Given the description of an element on the screen output the (x, y) to click on. 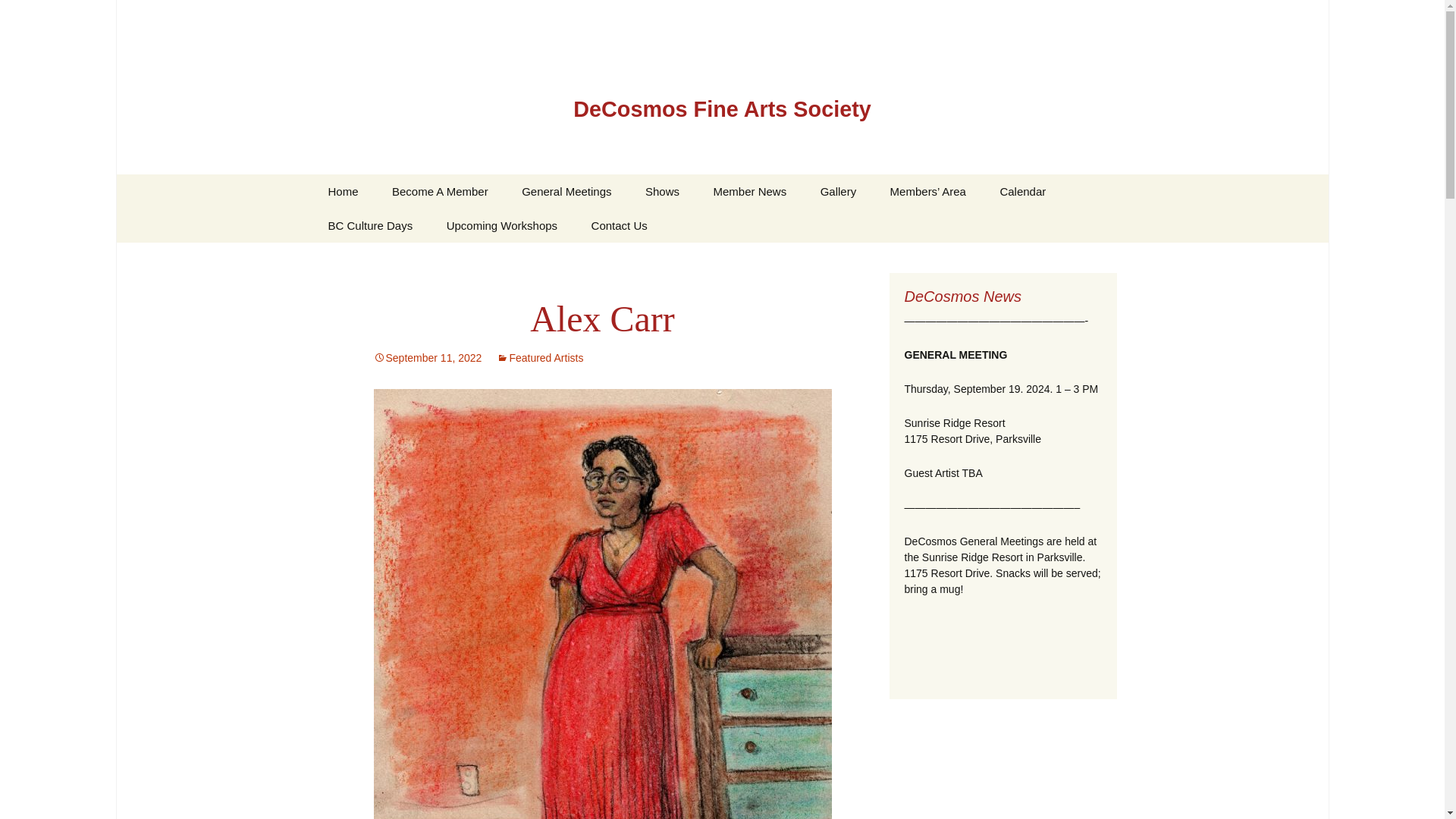
General Meetings (566, 191)
Featured Artists (772, 225)
Contact Us (619, 225)
Upcoming Workshops (501, 225)
Search (18, 15)
Calendar (1022, 191)
Member News (749, 191)
Featured Artists (539, 357)
